Given the description of an element on the screen output the (x, y) to click on. 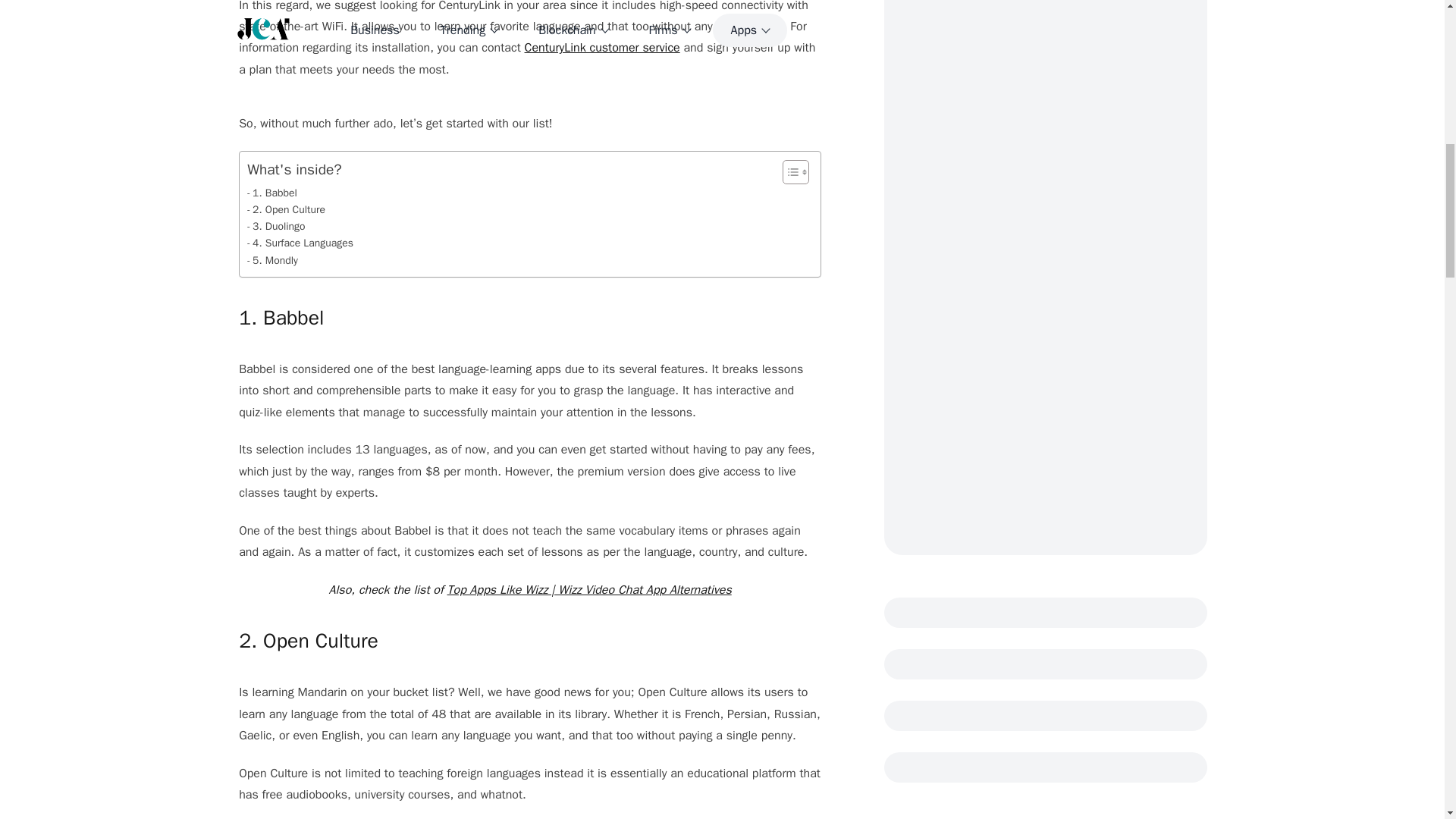
3. Duolingo (275, 226)
